Given the description of an element on the screen output the (x, y) to click on. 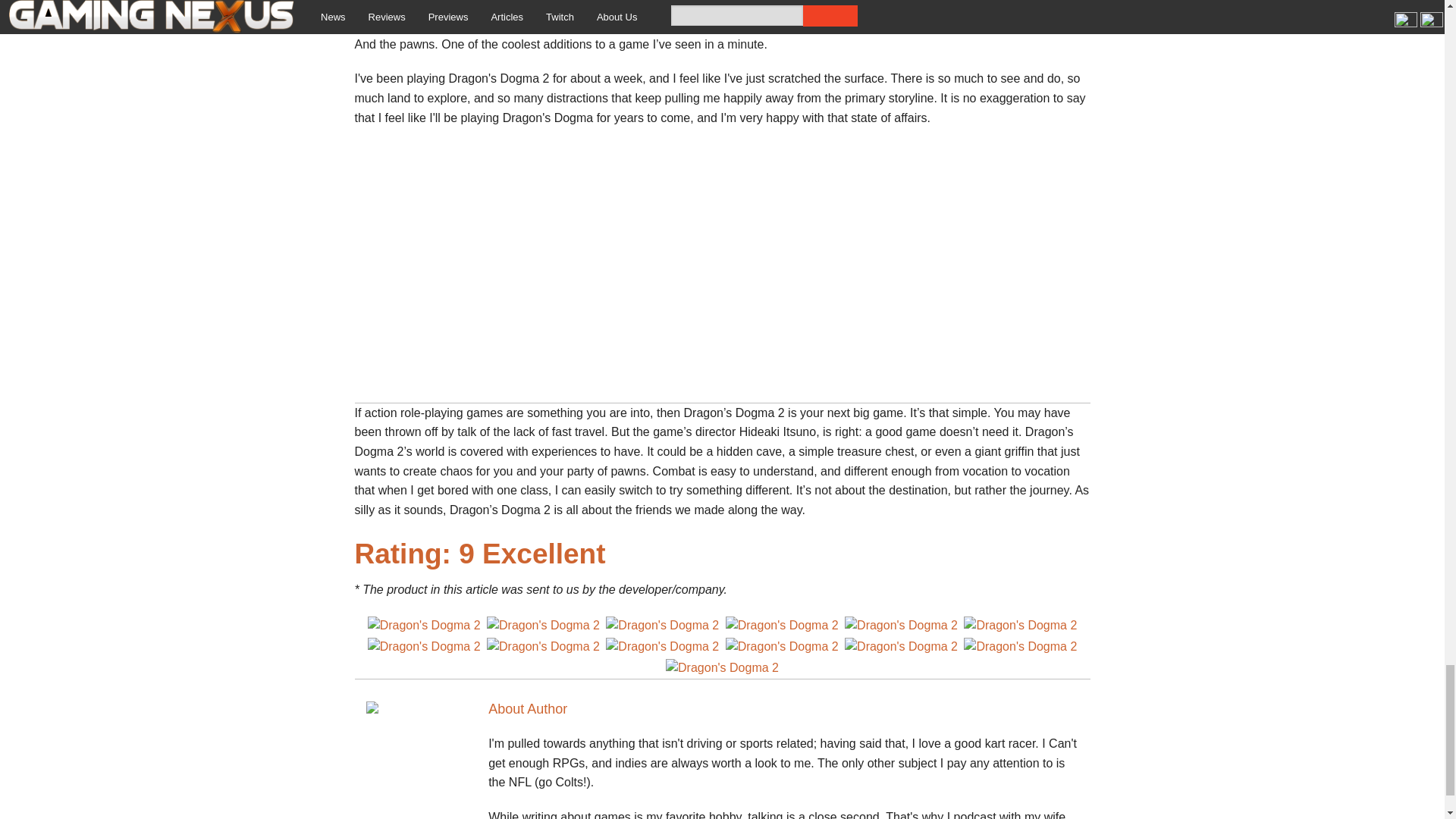
Dragon's Dogma 2 (781, 625)
Dragon's Dogma 2 (721, 667)
Dragon's Dogma 2 (1020, 625)
Dragon's Dogma 2 (542, 646)
Dragon's Dogma 2 (662, 625)
Dragon's Dogma 2 (423, 625)
Dragon's Dogma 2 (542, 625)
Dragon's Dogma 2 (781, 646)
Dragon's Dogma 2 (423, 646)
Dragon's Dogma 2 (901, 625)
